Given the description of an element on the screen output the (x, y) to click on. 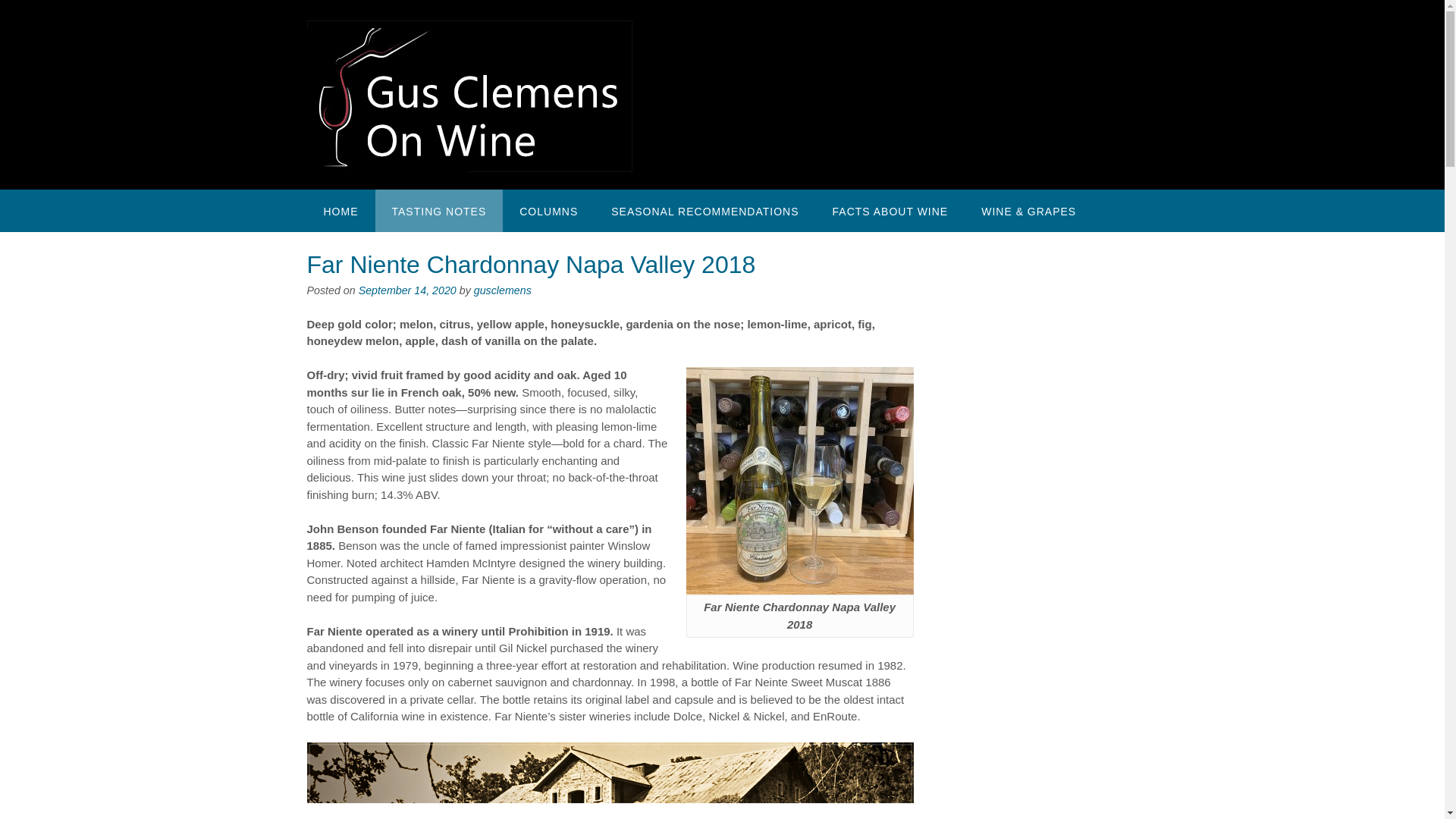
gusclemens (502, 290)
September 14, 2020 (407, 290)
SEASONAL RECOMMENDATIONS (704, 210)
HOME (339, 210)
FACTS ABOUT WINE (890, 210)
COLUMNS (548, 210)
TASTING NOTES (438, 210)
